Given the description of an element on the screen output the (x, y) to click on. 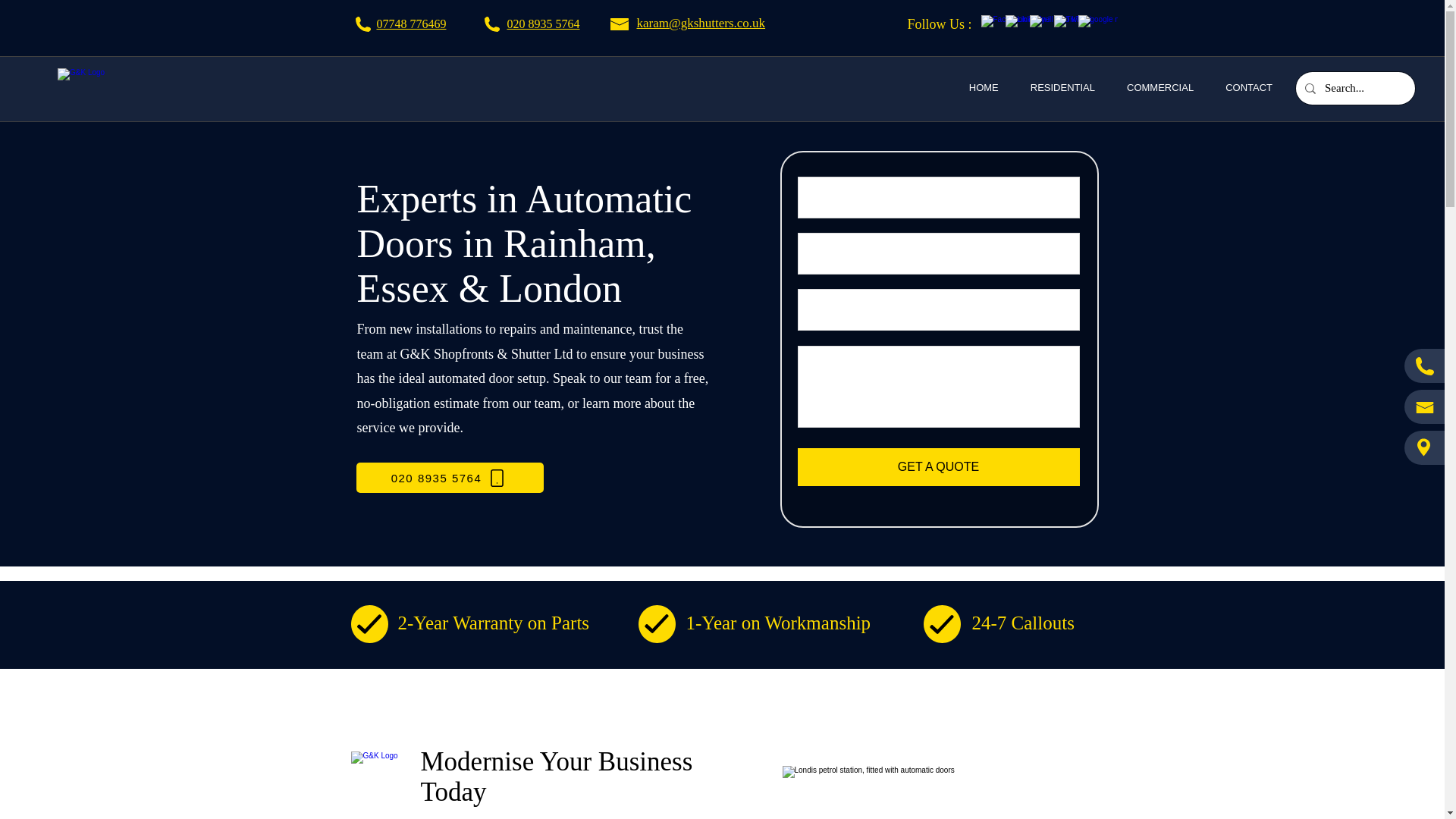
020 8935 5764 (449, 477)
HOME (983, 89)
020 8935 5764 (542, 23)
07748 776469 (410, 23)
CONTACT (1248, 89)
GET A QUOTE (938, 466)
